Given the description of an element on the screen output the (x, y) to click on. 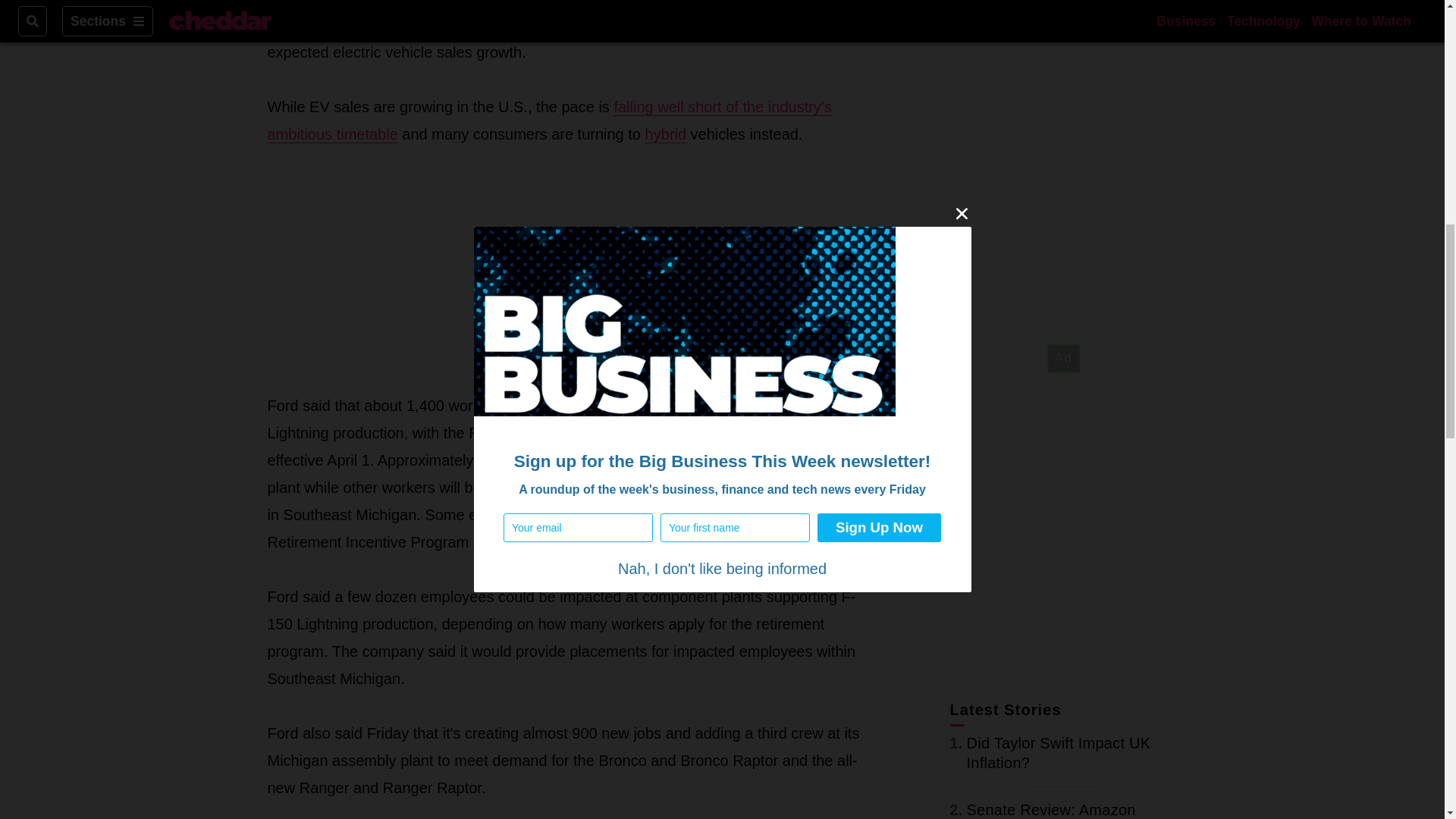
3rd party ad content (563, 269)
hybrid (665, 134)
